Given the description of an element on the screen output the (x, y) to click on. 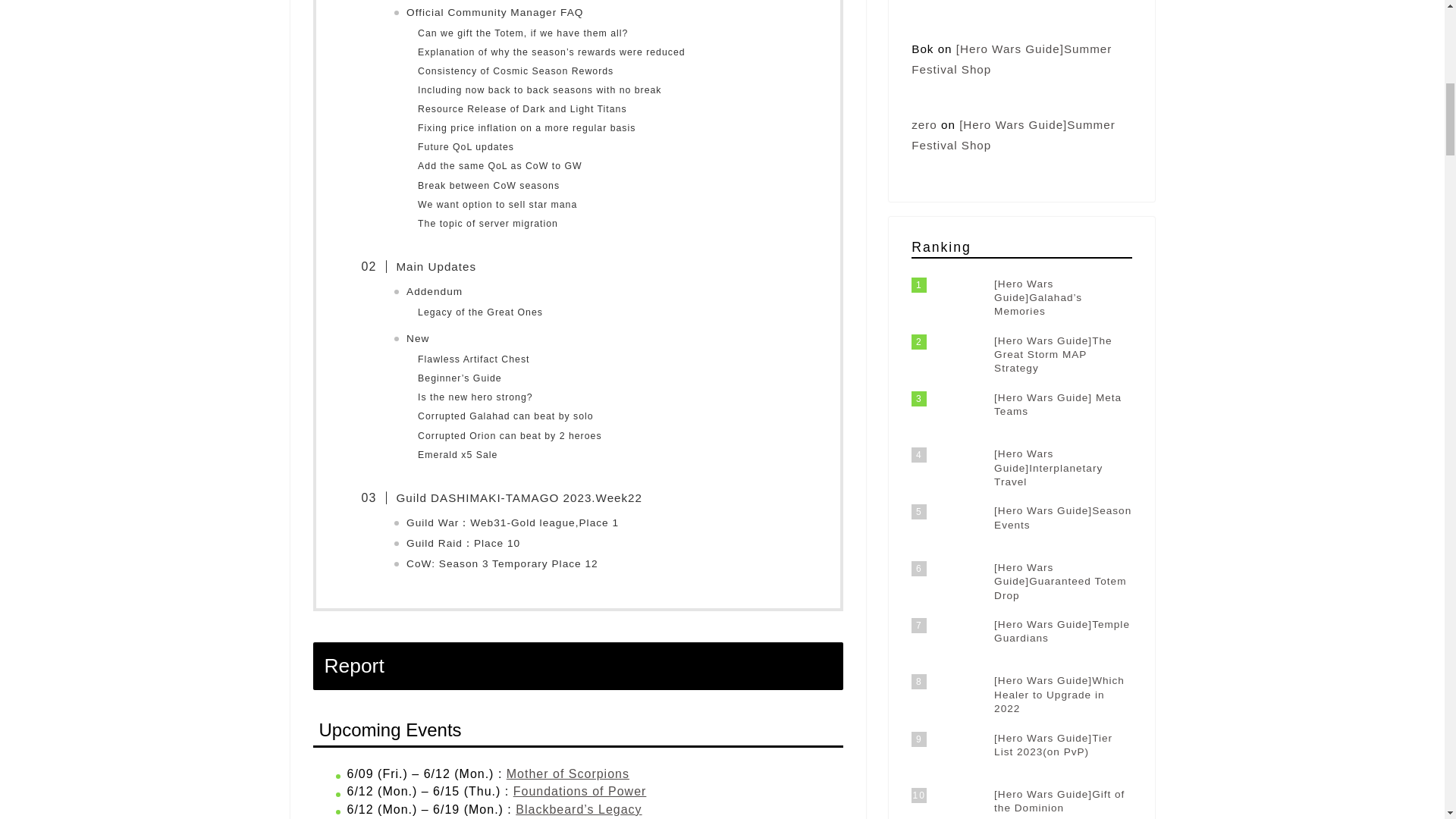
Consistency of Cosmic Season Rewords  (517, 71)
Future QoL updates (465, 147)
The topic of server migration (487, 223)
We want option to sell star mana (496, 205)
Add the same QoL as CoW to GW (499, 165)
Including now back to back seasons with no break (539, 90)
Official Community Manager FAQ (494, 12)
New (417, 338)
Resource Release of Dark and Light Titans (521, 109)
Break between CoW seasons (488, 186)
Addendum (434, 291)
Main Updates (426, 266)
Can we gift the Totem, if we have them all? (522, 33)
Legacy of the Great Ones (480, 312)
Fixing price inflation on a more regular basis (525, 128)
